Given the description of an element on the screen output the (x, y) to click on. 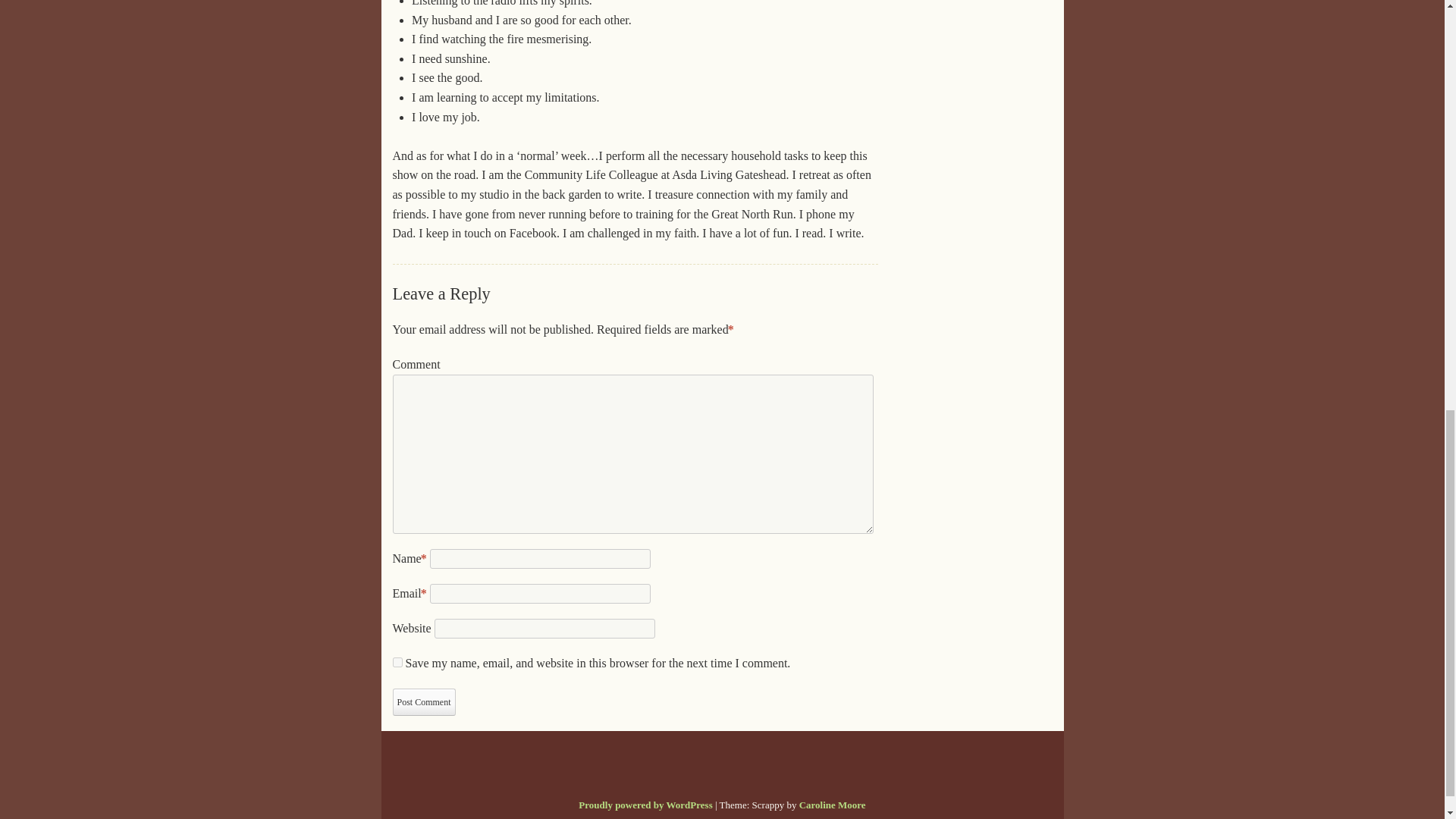
Caroline Moore (832, 804)
Proudly powered by WordPress (644, 804)
A Semantic Personal Publishing Platform (644, 804)
Post Comment (424, 701)
yes (398, 662)
Post Comment (424, 701)
